Given the description of an element on the screen output the (x, y) to click on. 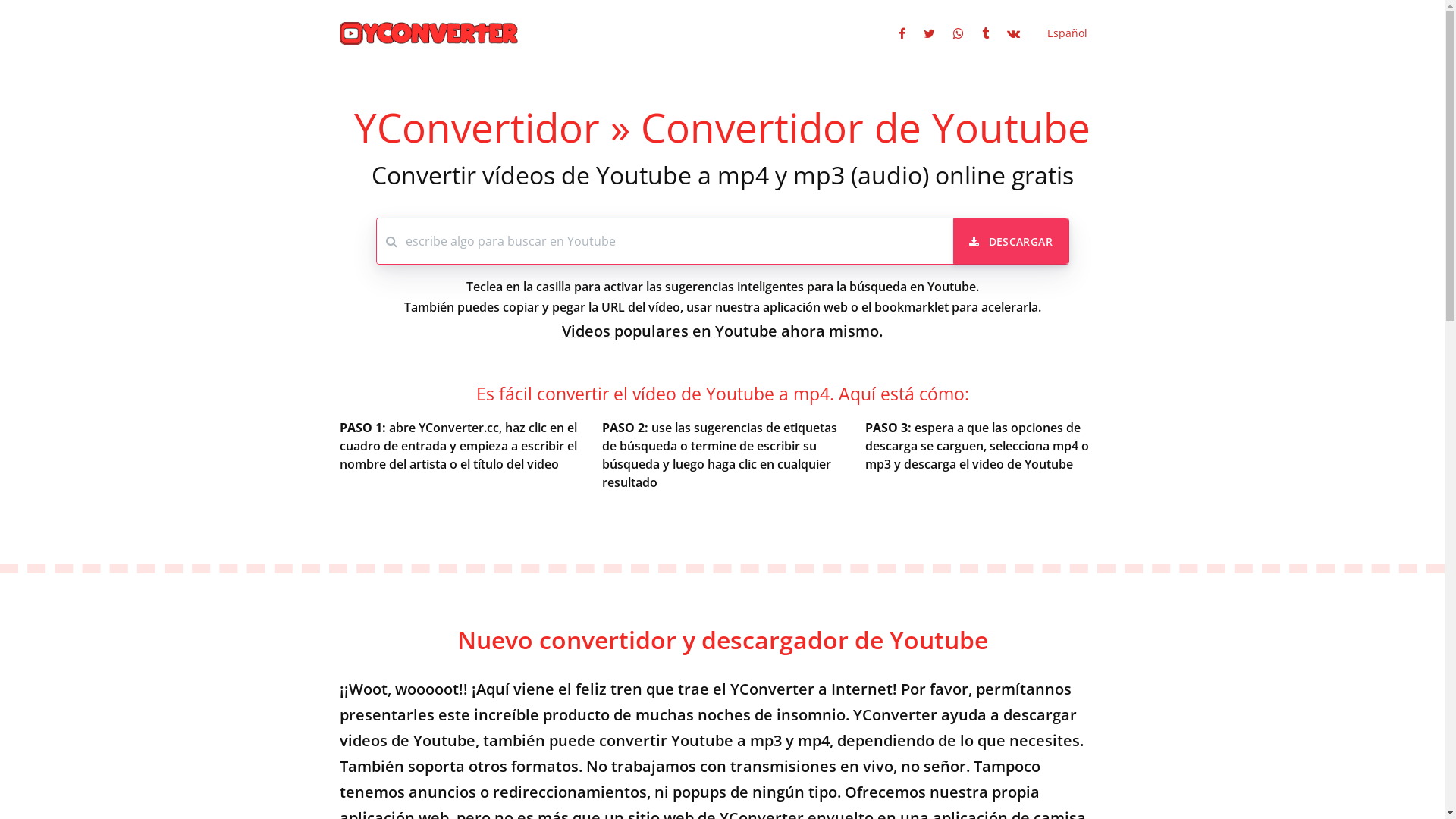
Compartir en VK Element type: hover (1013, 33)
Compartir en Tumblr Element type: hover (984, 33)
DESCARGAR Element type: text (1010, 240)
Compartir en Twitter Element type: hover (929, 33)
Compartir en Facebook Element type: hover (900, 33)
Compartir en Whatsapp Element type: hover (957, 33)
